Given the description of an element on the screen output the (x, y) to click on. 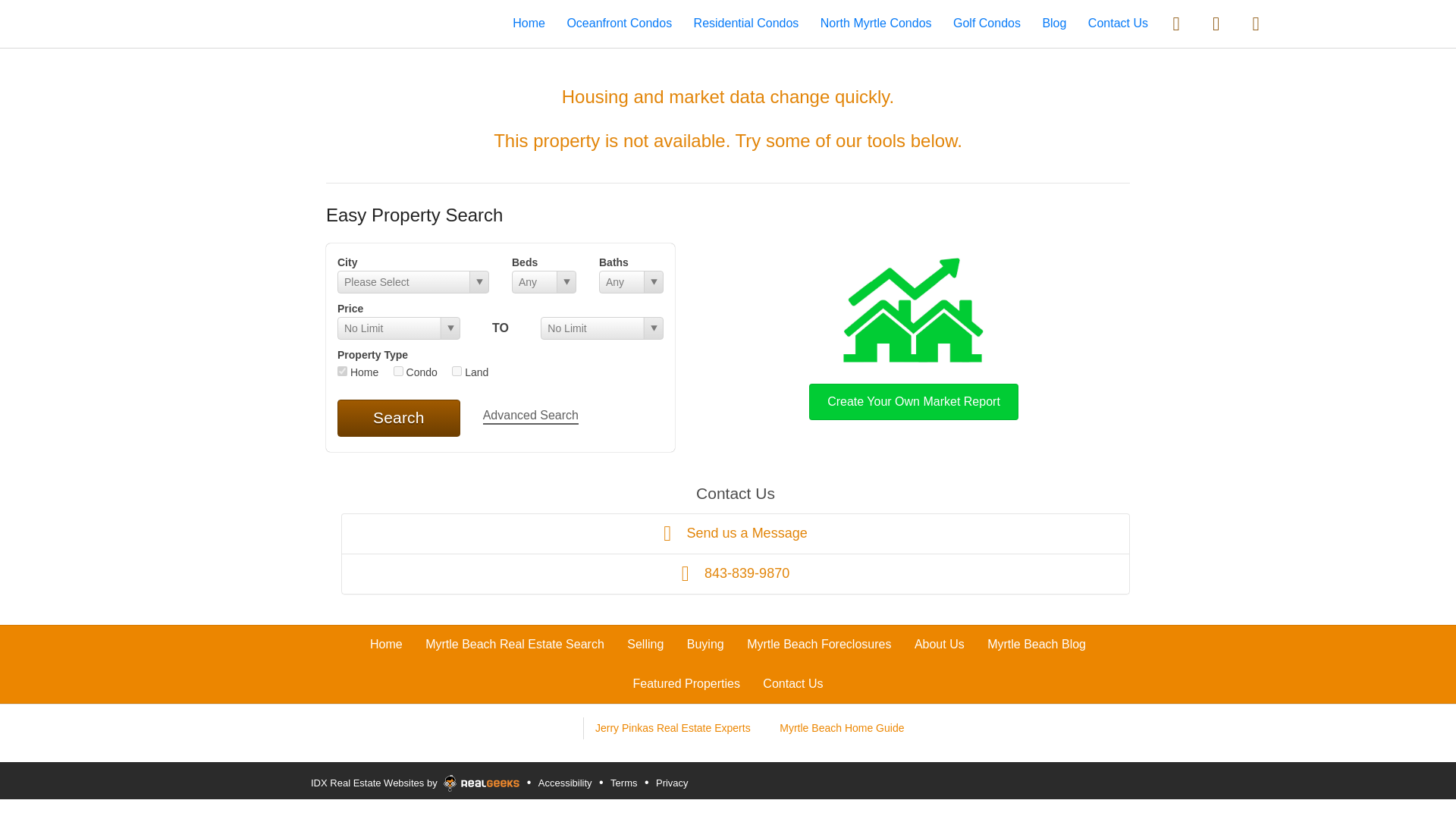
Search (398, 417)
Golf Condos (986, 22)
con (398, 370)
IDX Real Estate Websites by (414, 780)
North Myrtle Condos (876, 22)
Featured Properties (685, 683)
res (342, 370)
Buying (705, 644)
Contact Us (792, 683)
Myrtle Beach Blog (1036, 644)
